Given the description of an element on the screen output the (x, y) to click on. 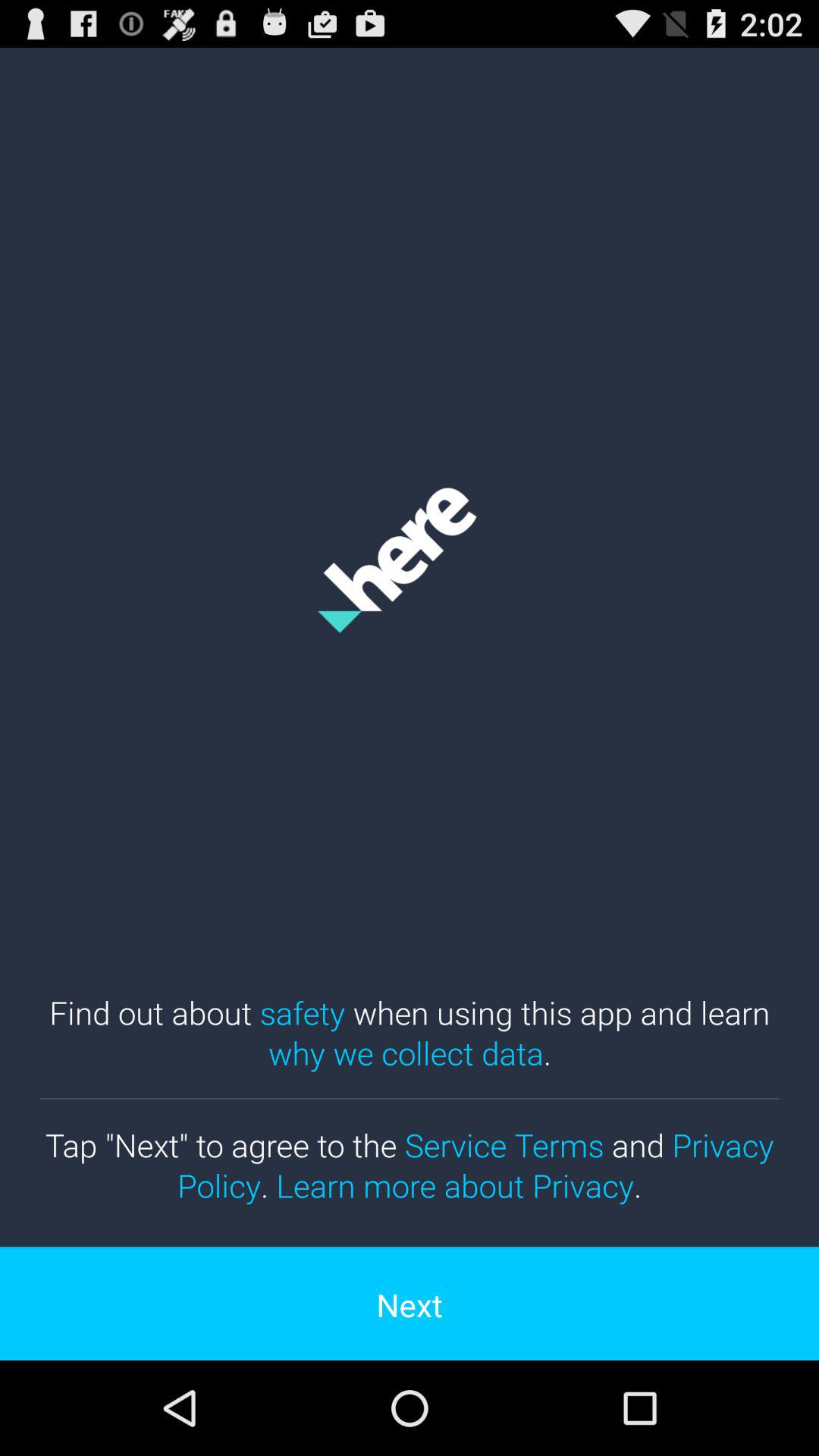
turn off tap next to (409, 1164)
